Given the description of an element on the screen output the (x, y) to click on. 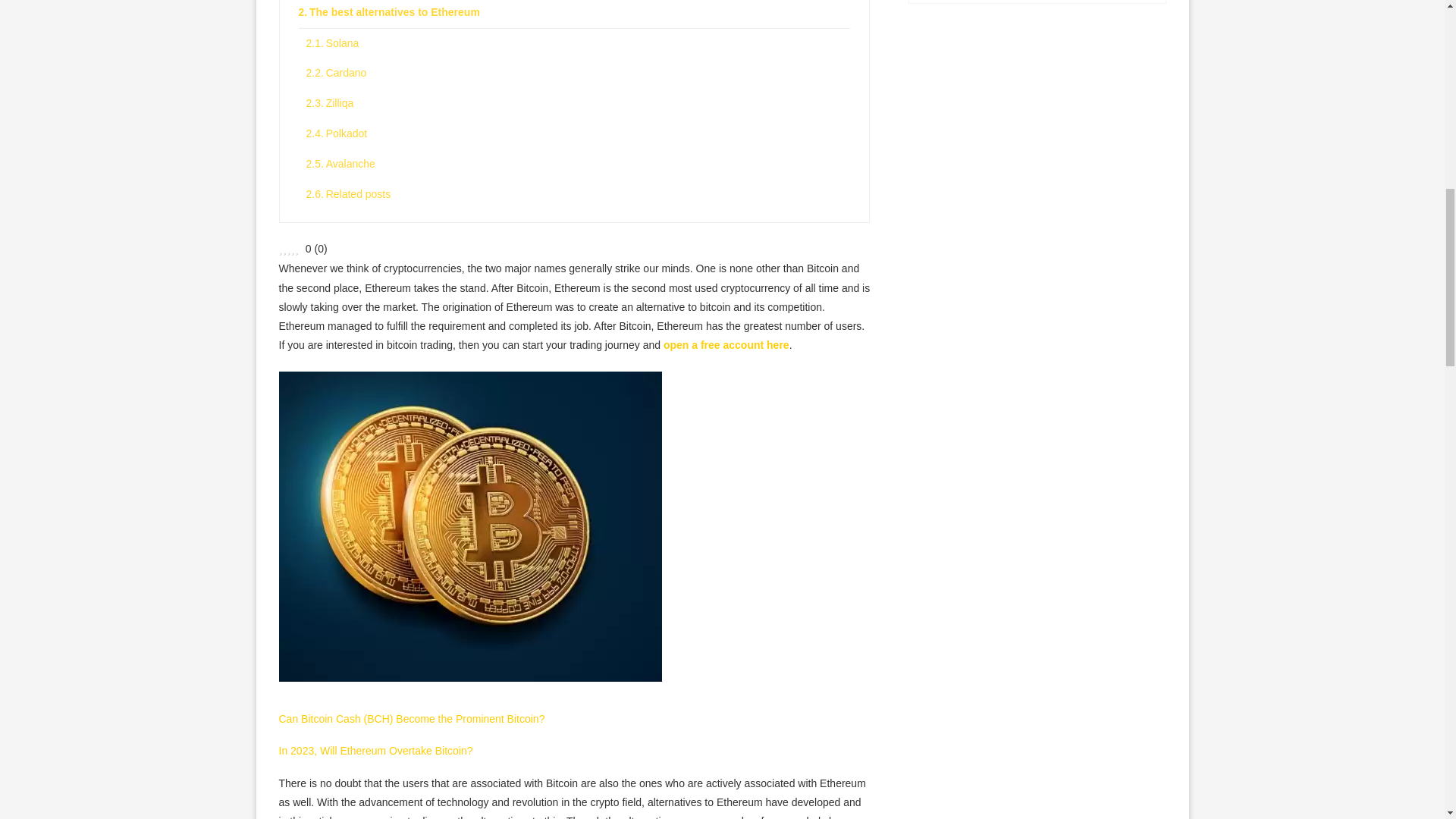
Related posts (577, 194)
Cardano (577, 73)
Solana (577, 43)
Avalanche  (577, 164)
The best alternatives to Ethereum (574, 13)
The best alternatives to Ethereum (574, 13)
Zilliqa (577, 103)
Solana  (577, 43)
Cardano  (577, 73)
Zilliqa  (577, 103)
